Given the description of an element on the screen output the (x, y) to click on. 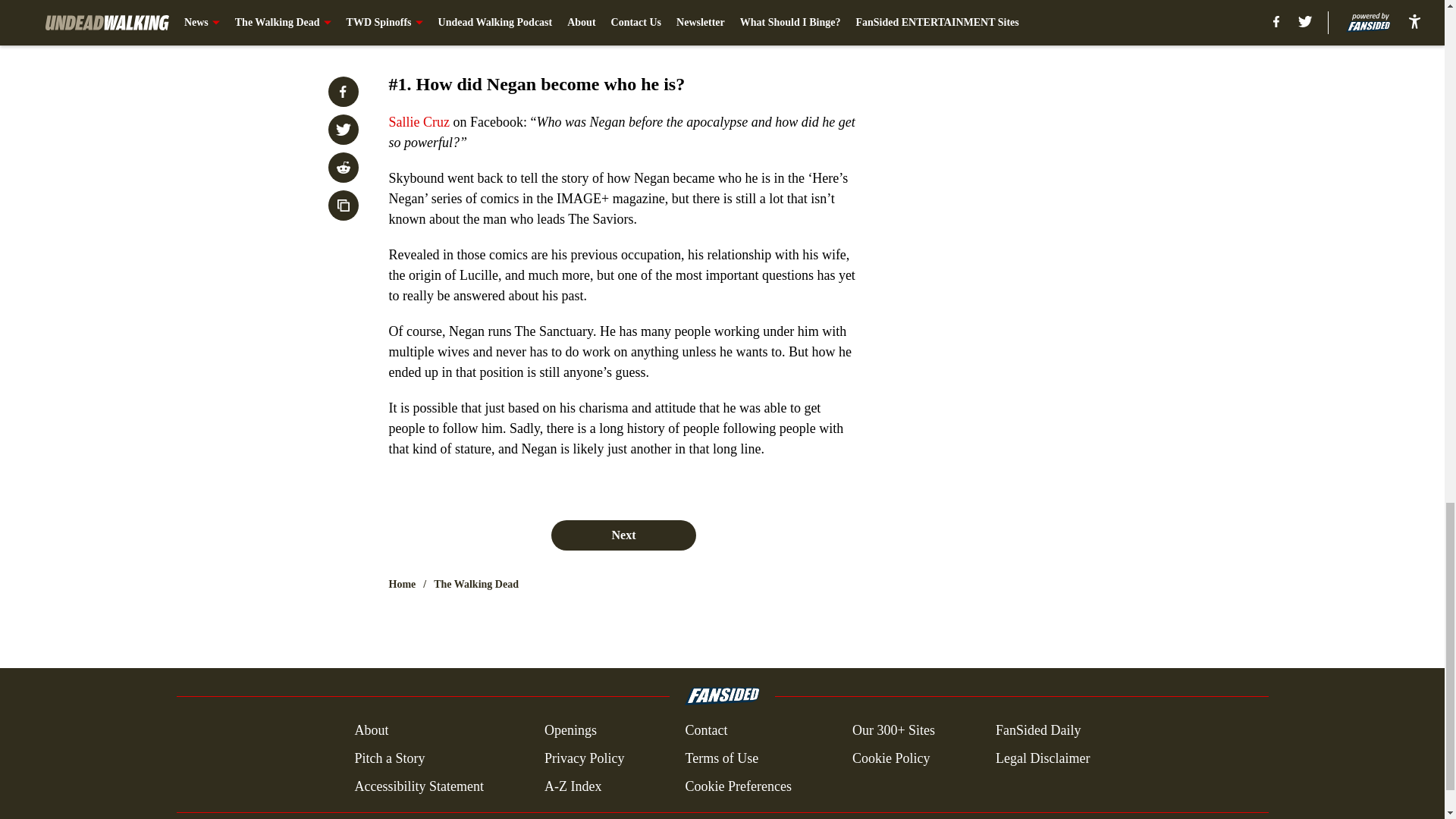
Home (401, 584)
Next (622, 535)
Sallie Cruz (418, 121)
